Given the description of an element on the screen output the (x, y) to click on. 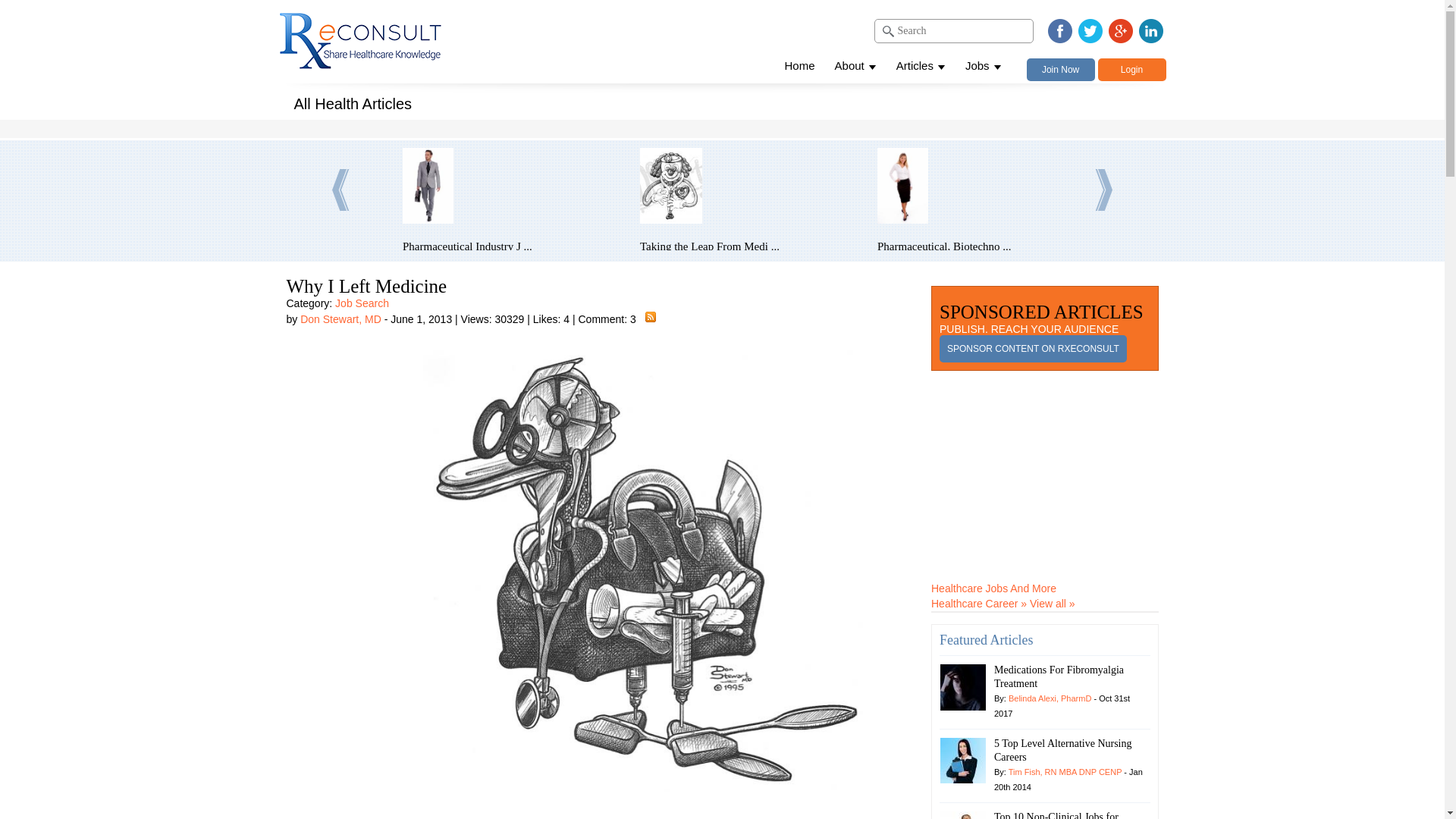
About (855, 68)
Pharmaceutical Industry J ... (510, 246)
Jobs (983, 68)
Pharmaceutical, Biotechno ... (984, 246)
Articles (920, 68)
Login (1131, 69)
Taking the Leap From Medi ... (747, 246)
Home (799, 68)
Join Now (1060, 69)
